Given the description of an element on the screen output the (x, y) to click on. 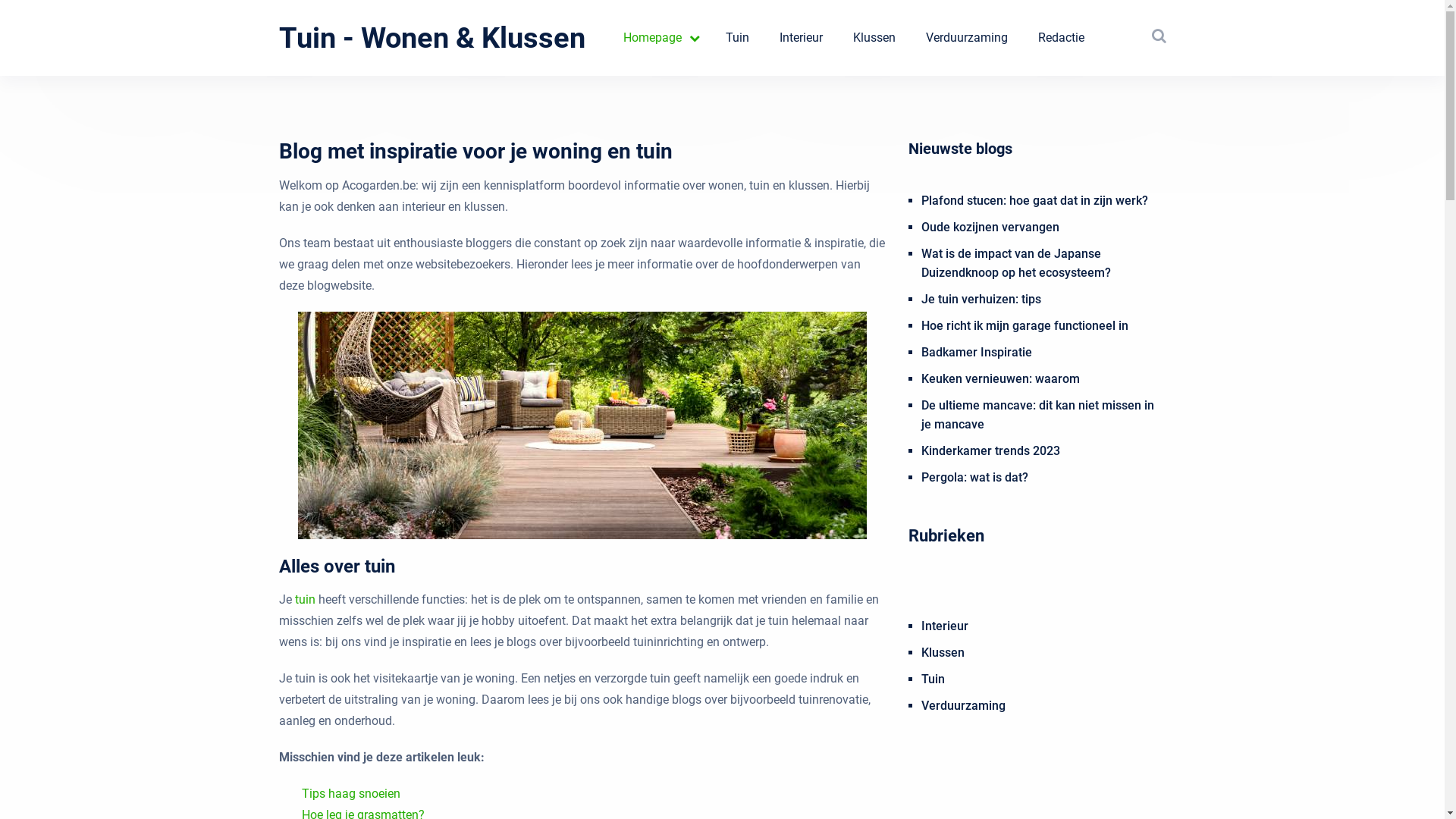
Verduurzaming Element type: text (962, 705)
Interieur Element type: text (943, 625)
Tuin - Wonen & Klussen Element type: text (432, 37)
Klussen Element type: text (941, 652)
Je tuin verhuizen: tips Element type: text (980, 298)
Kinderkamer trends 2023 Element type: text (989, 450)
Tips haag snoeien Element type: text (350, 793)
tuin Element type: text (304, 599)
Hoe richt ik mijn garage functioneel in Element type: text (1023, 325)
Badkamer Inspiratie Element type: text (975, 352)
Plafond stucen: hoe gaat dat in zijn werk? Element type: text (1033, 200)
Pergola: wat is dat? Element type: text (973, 477)
Tuin Element type: text (736, 37)
Tuin Element type: text (932, 678)
Keuken vernieuwen: waarom Element type: text (999, 378)
Oude kozijnen vervangen Element type: text (989, 226)
Interieur Element type: text (800, 37)
De ultieme mancave: dit kan niet missen in je mancave Element type: text (1036, 414)
Homepage Element type: text (659, 37)
Klussen Element type: text (873, 37)
Verduurzaming Element type: text (966, 37)
Redactie Element type: text (1060, 37)
